Given the description of an element on the screen output the (x, y) to click on. 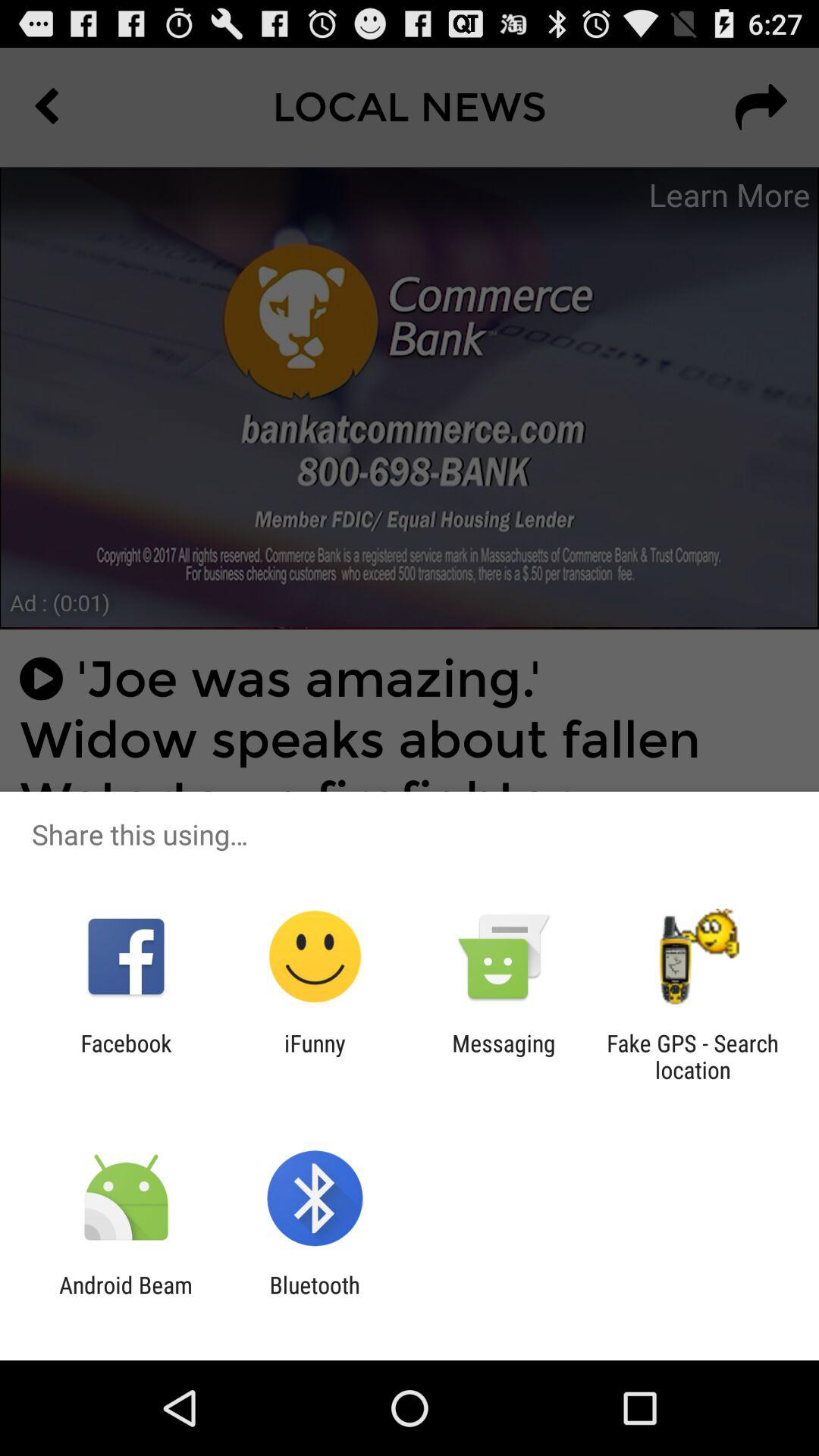
select app at the bottom right corner (692, 1056)
